Given the description of an element on the screen output the (x, y) to click on. 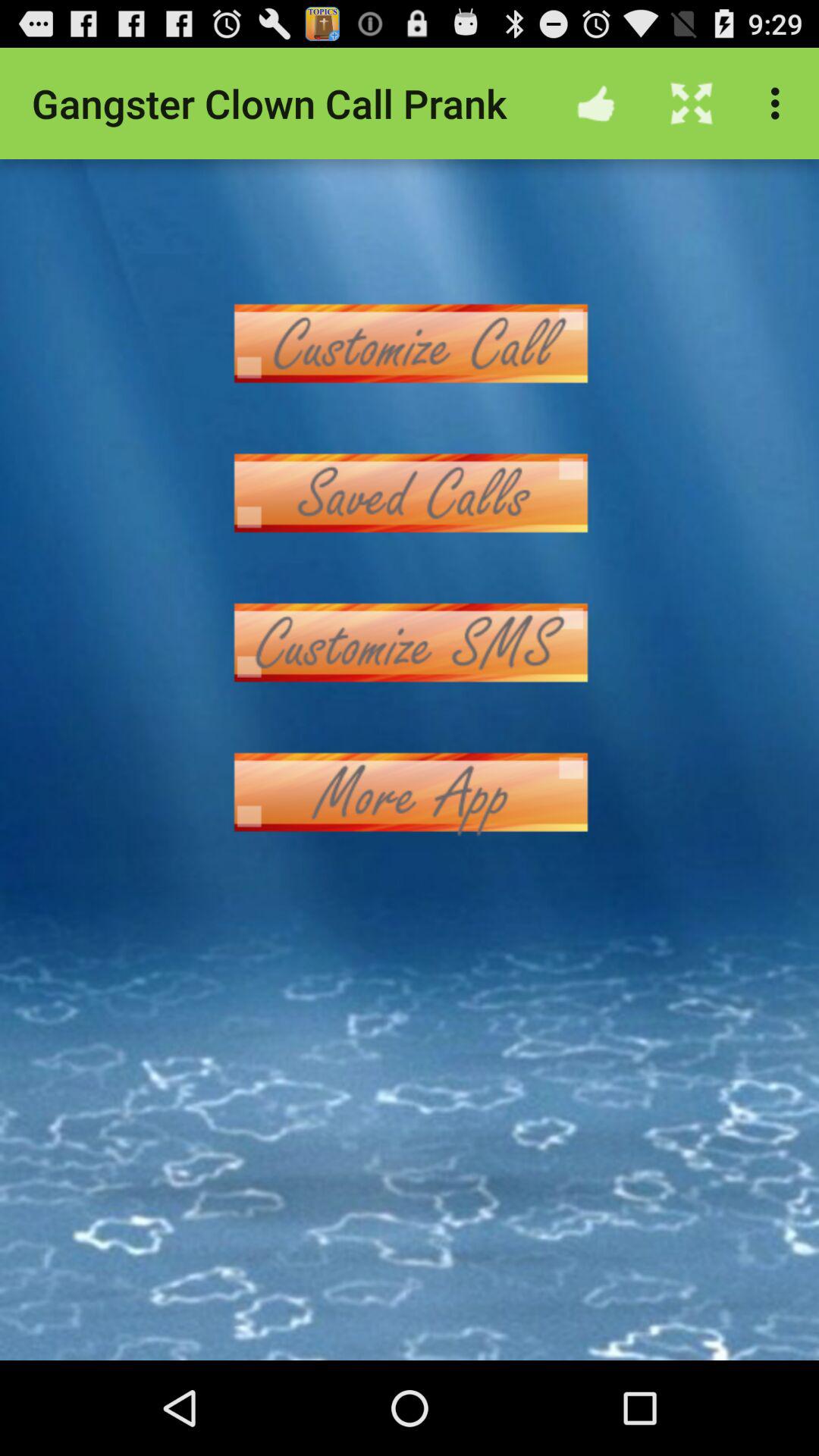
open more apps menu (409, 792)
